Given the description of an element on the screen output the (x, y) to click on. 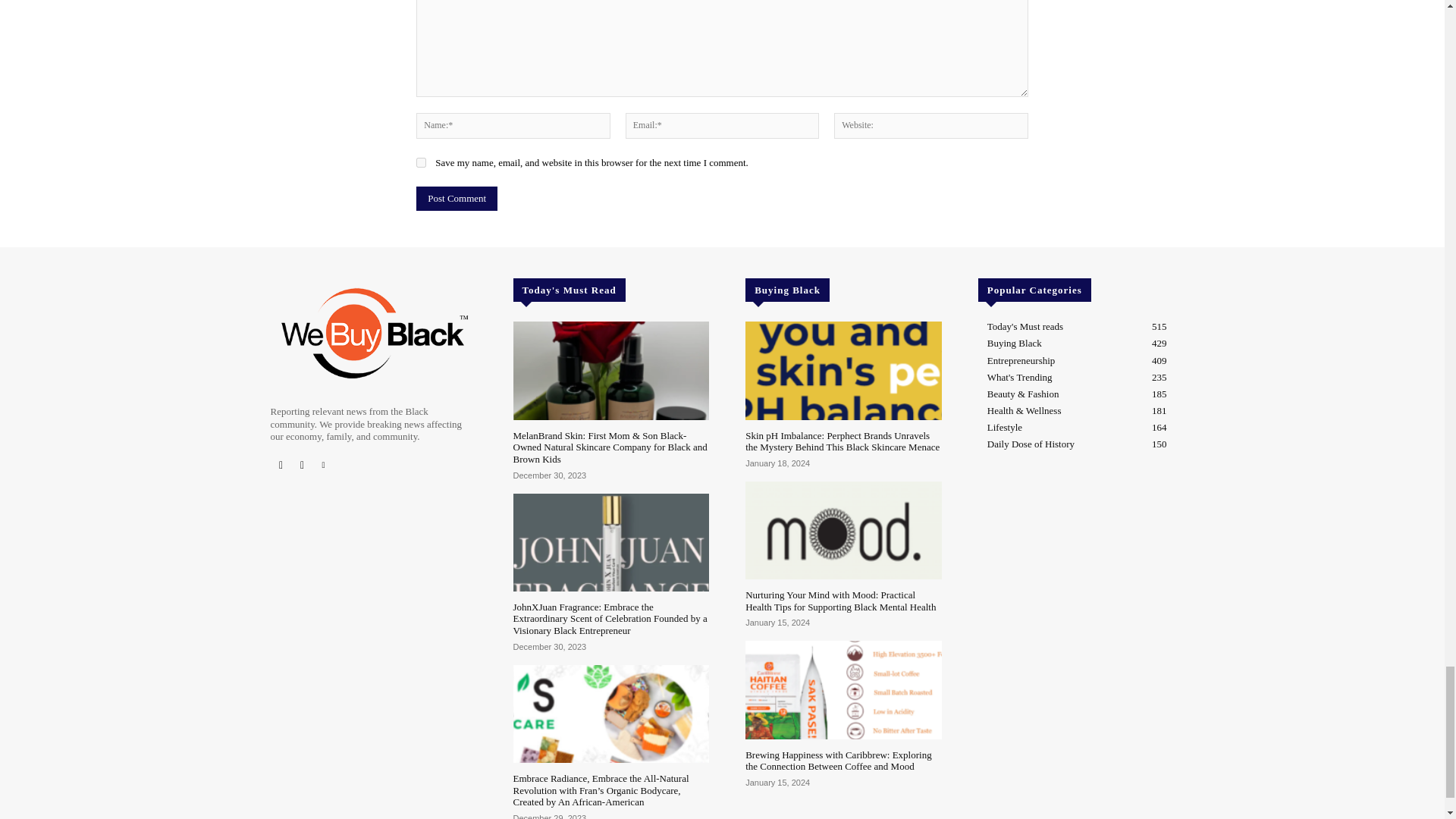
Post Comment (456, 198)
yes (421, 162)
